Given the description of an element on the screen output the (x, y) to click on. 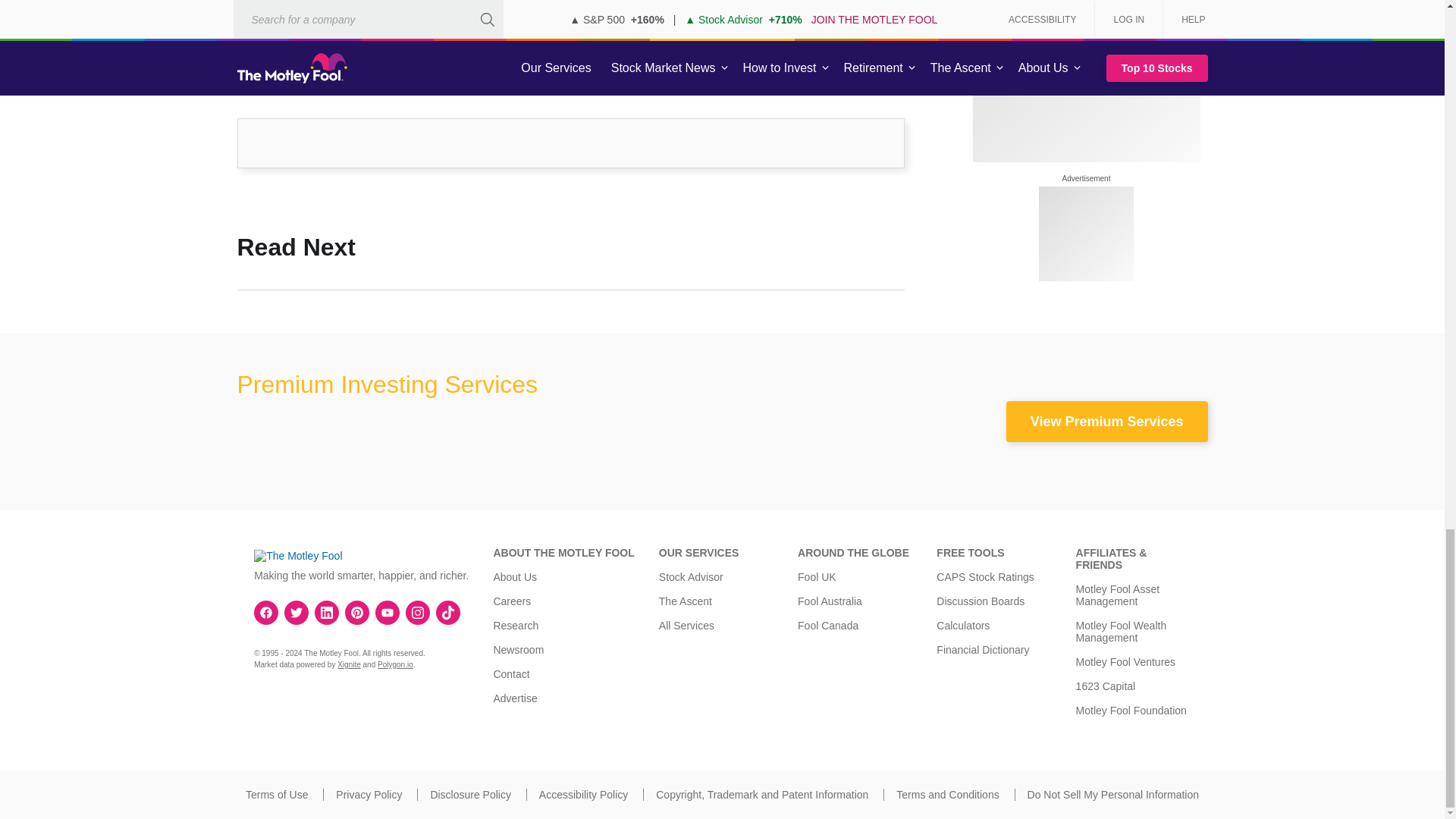
Privacy Policy (368, 794)
Accessibility Policy (582, 794)
Terms of Use (276, 794)
Do Not Sell My Personal Information. (1112, 794)
Terms and Conditions (947, 794)
Disclosure Policy (470, 794)
Copyright, Trademark and Patent Information (761, 794)
